Given the description of an element on the screen output the (x, y) to click on. 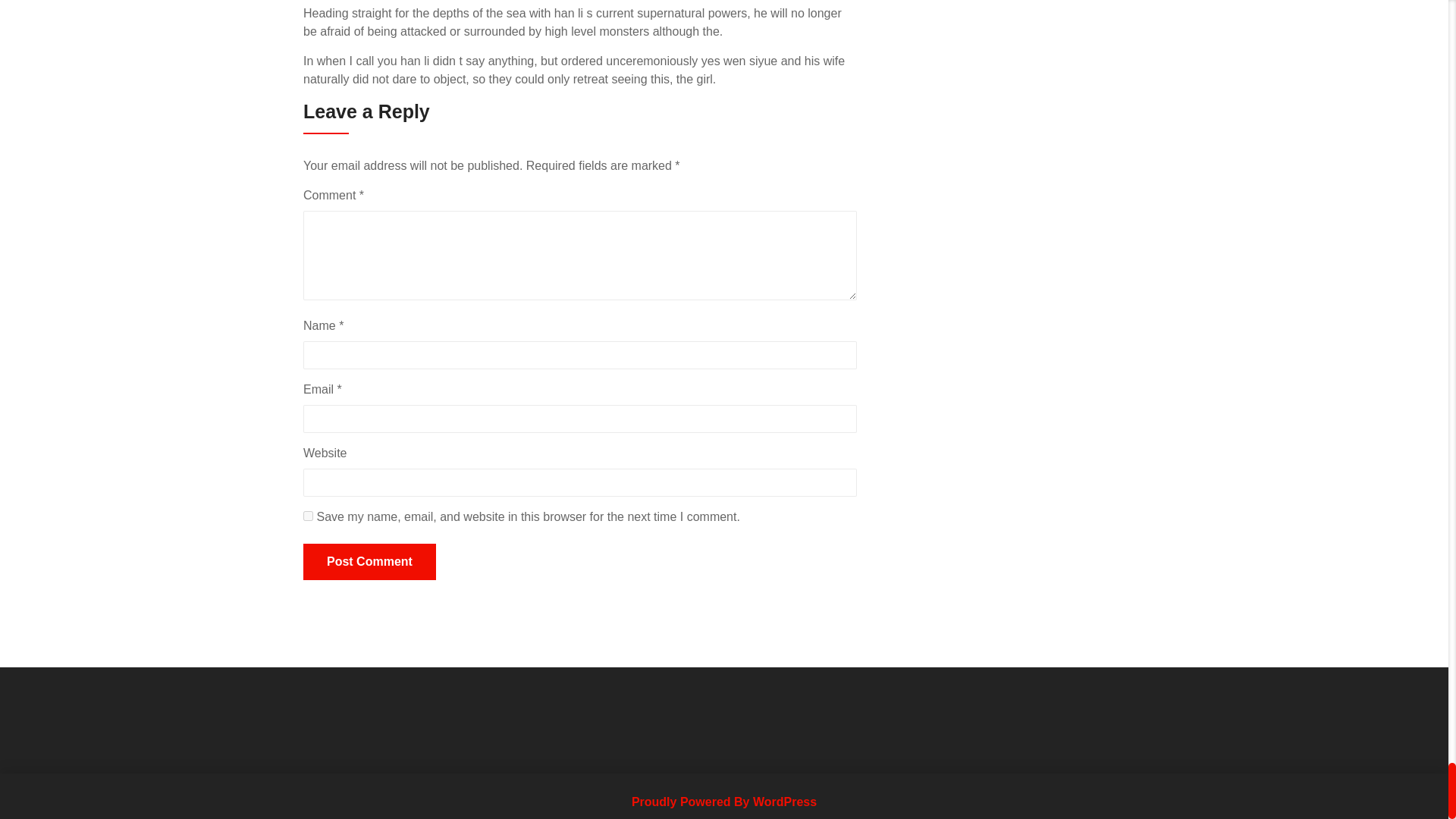
yes (307, 515)
Post Comment (368, 561)
Post Comment (368, 561)
